Given the description of an element on the screen output the (x, y) to click on. 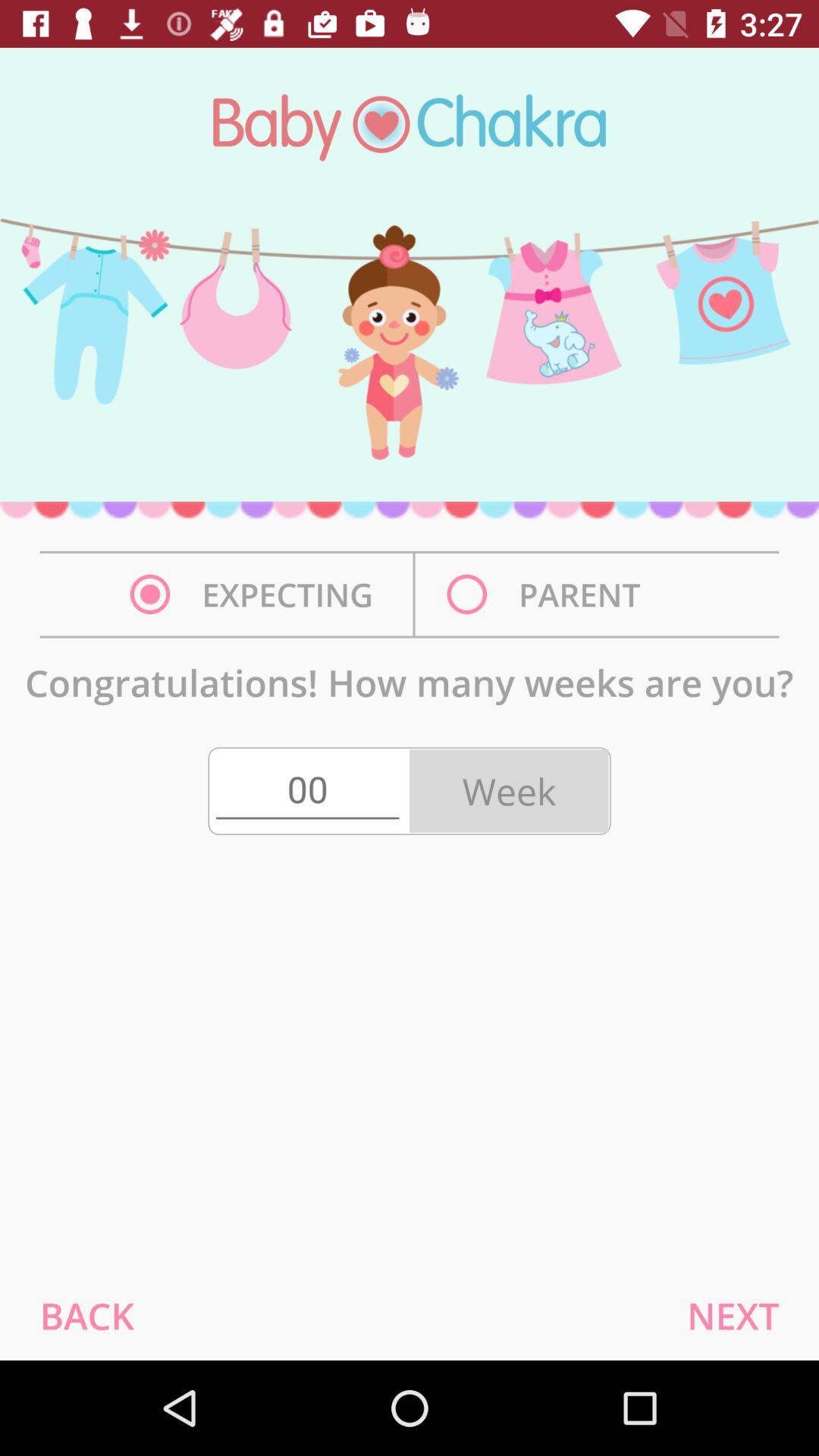
press the expecting (255, 594)
